Given the description of an element on the screen output the (x, y) to click on. 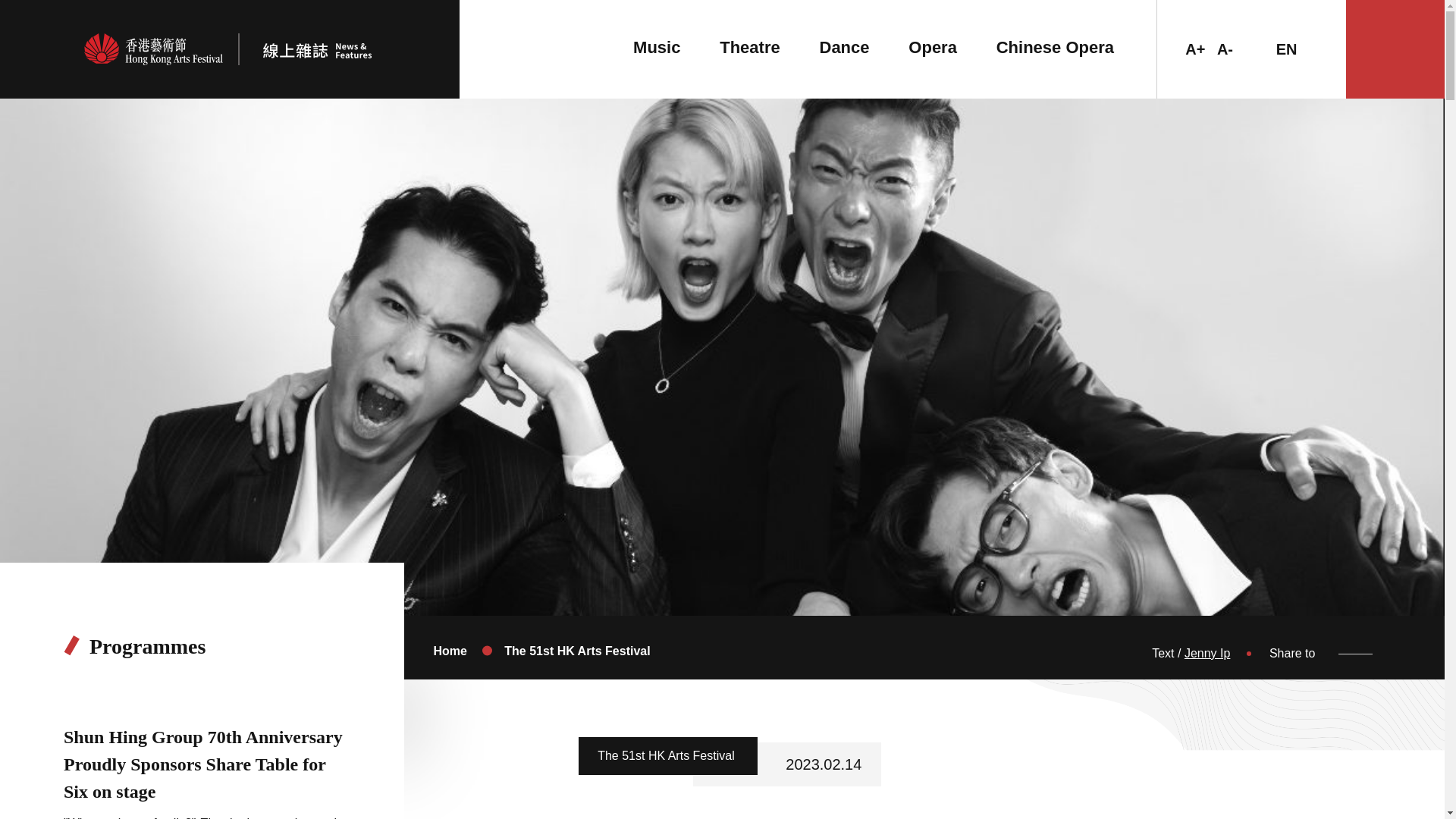
Jenny Ip (1207, 653)
Chinese Opera (1054, 46)
Theatre (748, 46)
Dance (843, 46)
Opera (932, 46)
The 51st HK Arts Festival (576, 650)
Music (656, 46)
Home (448, 650)
